Given the description of an element on the screen output the (x, y) to click on. 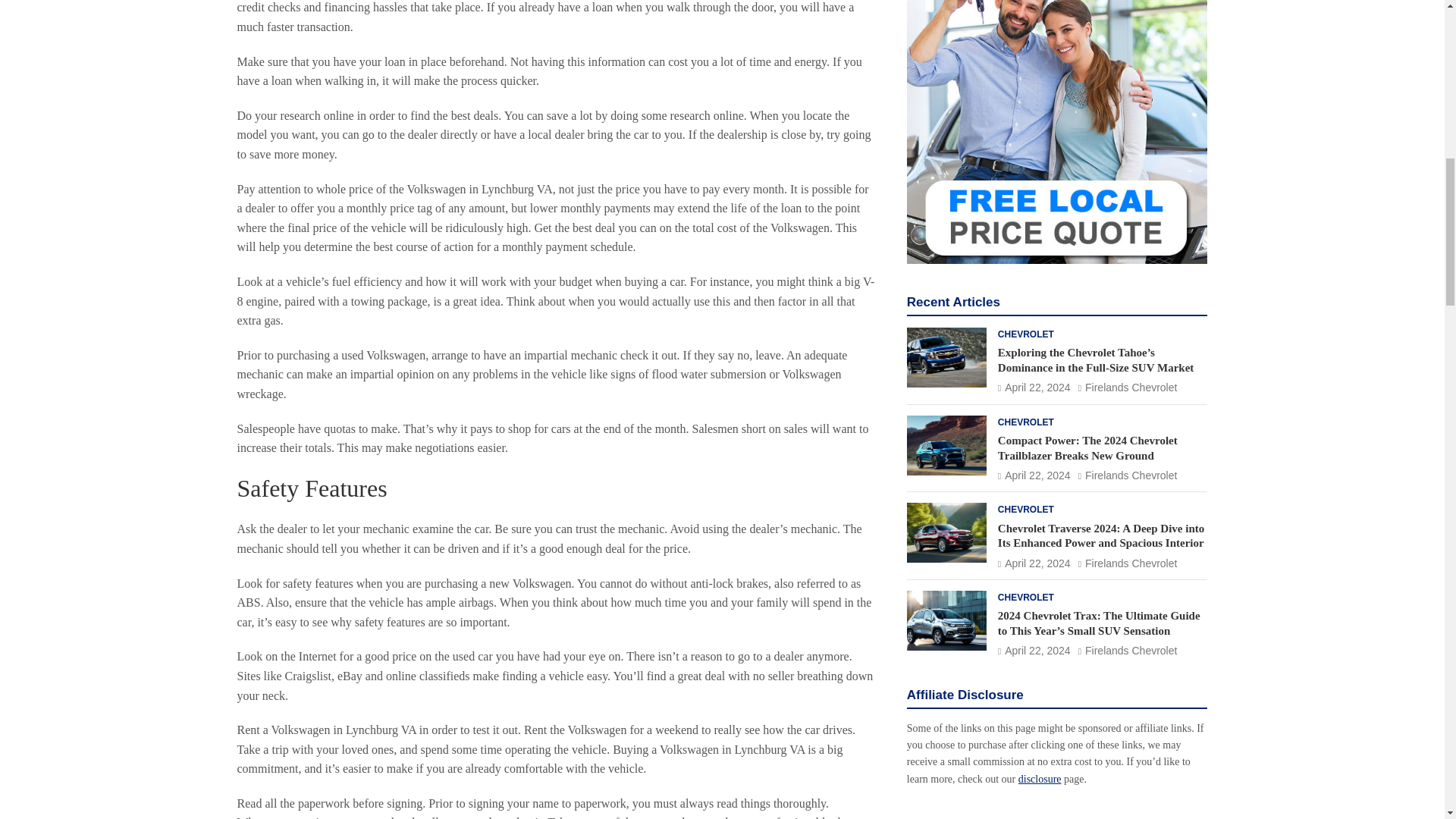
Firelands Chevrolet (1127, 39)
April 22, 2024 (1033, 39)
